Given the description of an element on the screen output the (x, y) to click on. 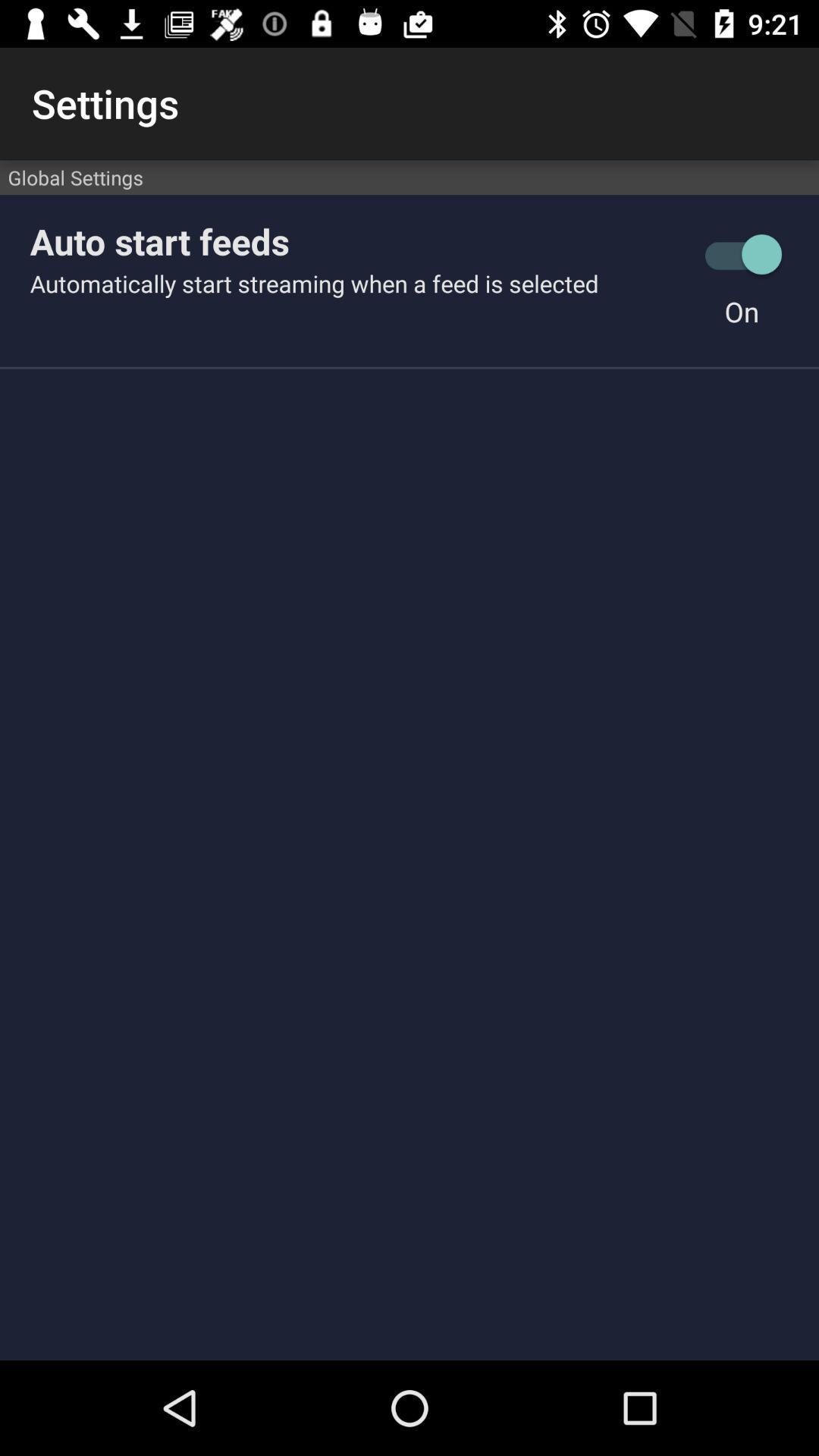
turn off the icon to the right of auto start feeds icon (741, 254)
